Given the description of an element on the screen output the (x, y) to click on. 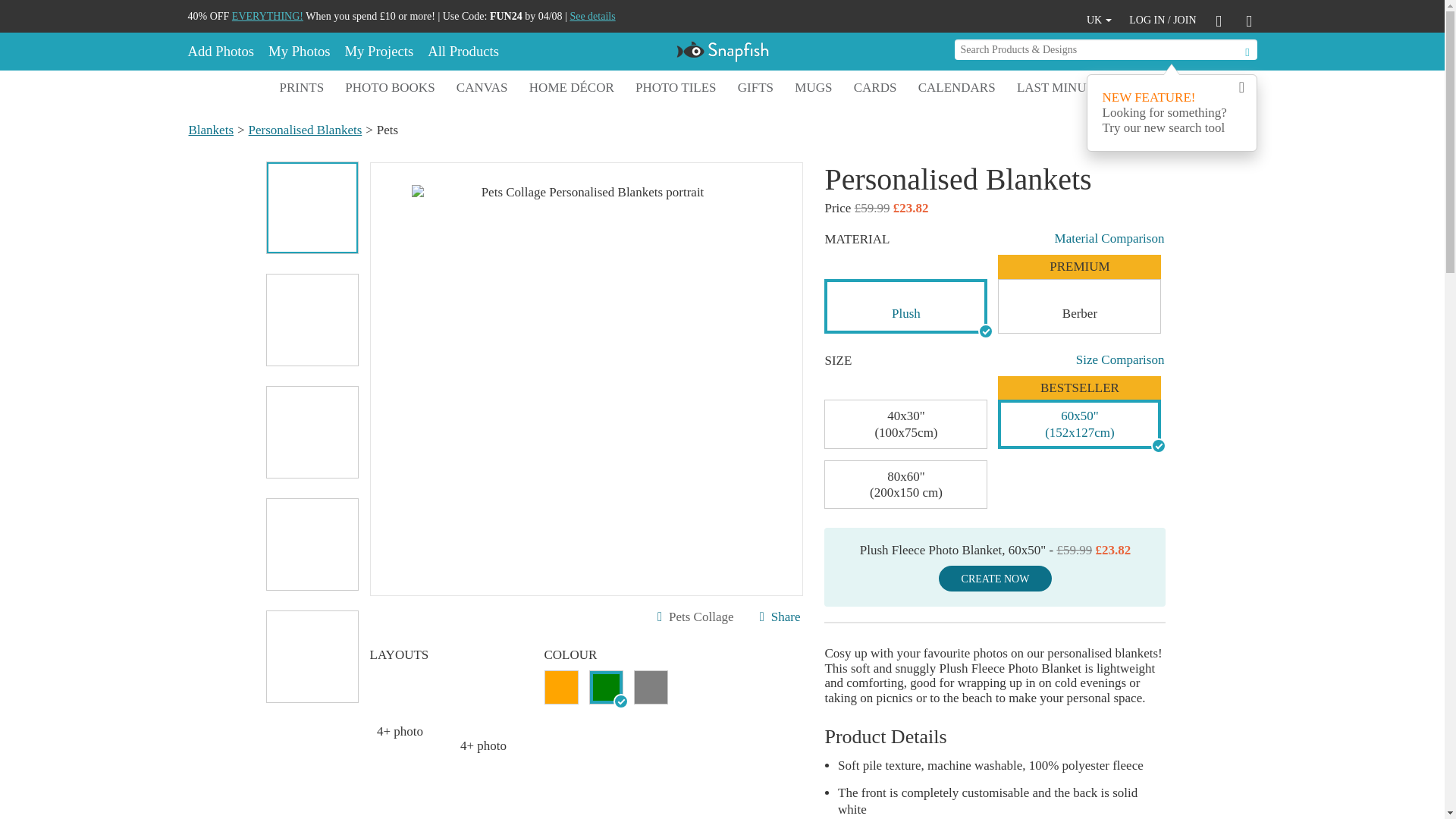
Add Photos (223, 51)
See details (591, 16)
UK (1099, 20)
My Projects (378, 51)
All Products (462, 51)
EVERYTHING! (266, 16)
PRINTS (301, 88)
My Photos (298, 51)
